Given the description of an element on the screen output the (x, y) to click on. 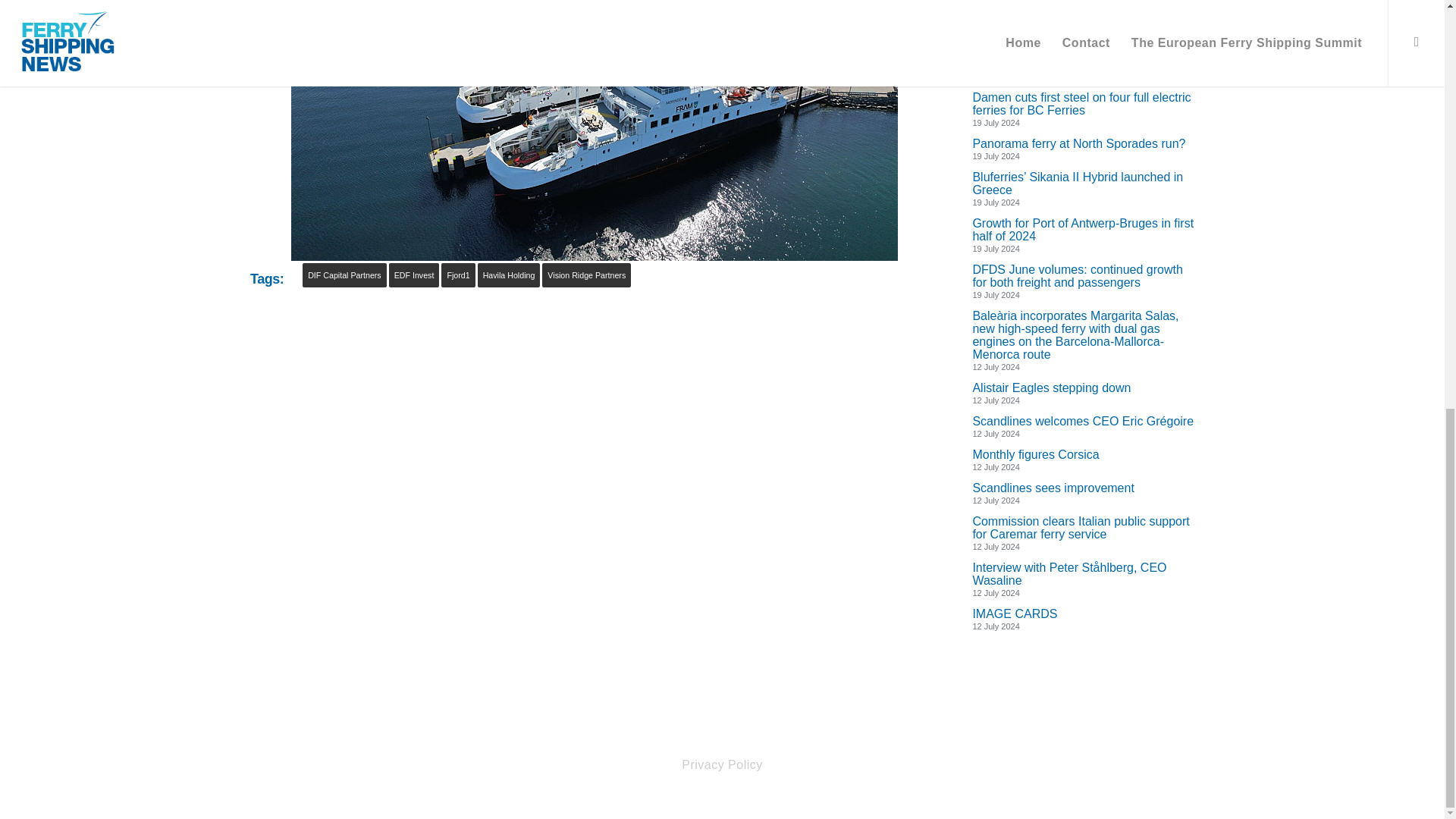
Growth for Port of Antwerp-Bruges in first half of 2024 (1082, 229)
Havila Holding (508, 274)
Vision Ridge Partners (585, 274)
EDF Invest (413, 274)
Growth for Port of Antwerp-Bruges in first half of 2024 (1082, 229)
Seven new electric ferries for the Clyde and Hebrides (1082, 12)
Fjord1 (457, 274)
DIF Capital Partners (344, 274)
Panorama ferry at North Sporades run? (1082, 143)
Panorama ferry at North Sporades run? (1082, 143)
Seven new electric ferries for the Clyde and Hebrides (1082, 12)
